Given the description of an element on the screen output the (x, y) to click on. 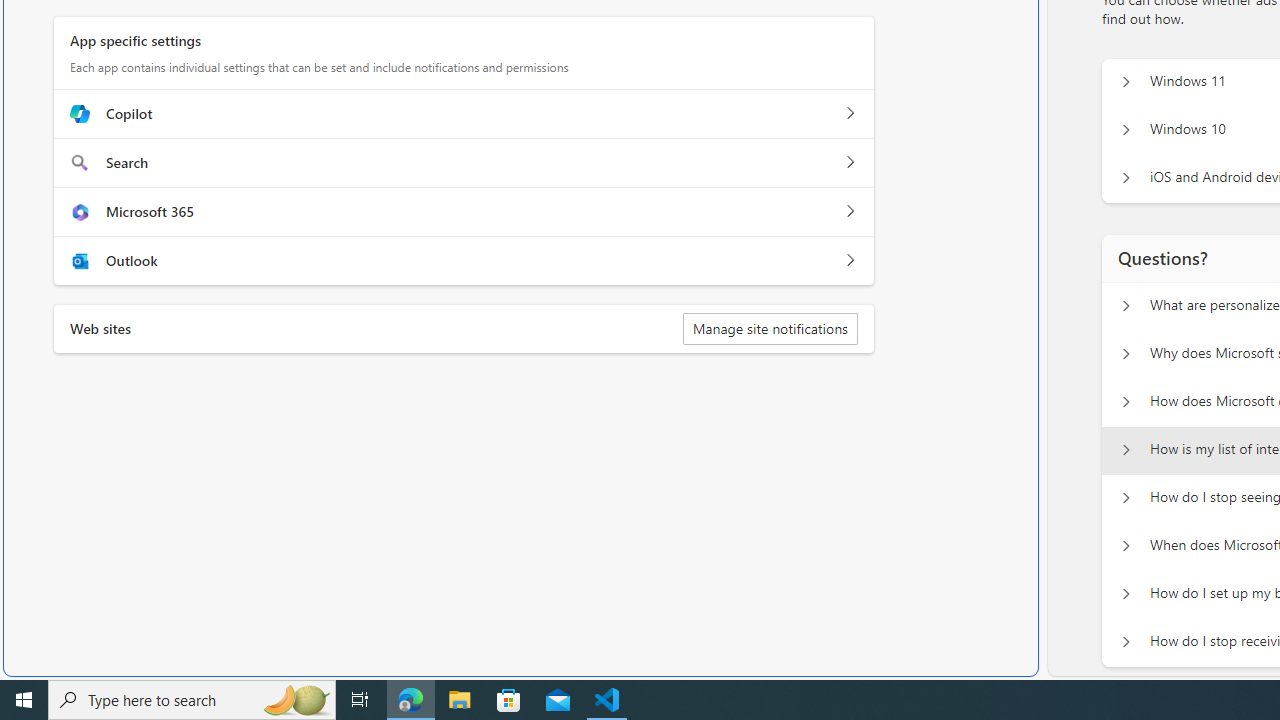
Questions? What are personalized ads? (1125, 306)
Manage personalized ads on your device Windows 10 (1125, 129)
Manage site notifications (769, 328)
Questions? Why does Microsoft show personalized ads? (1125, 353)
Questions? How does Microsoft deliver personalized ads? (1125, 401)
Questions? How is my list of interests populated? (1125, 450)
Copilot (849, 113)
Manage personalized ads on your device Windows 11 (1125, 82)
